Given the description of an element on the screen output the (x, y) to click on. 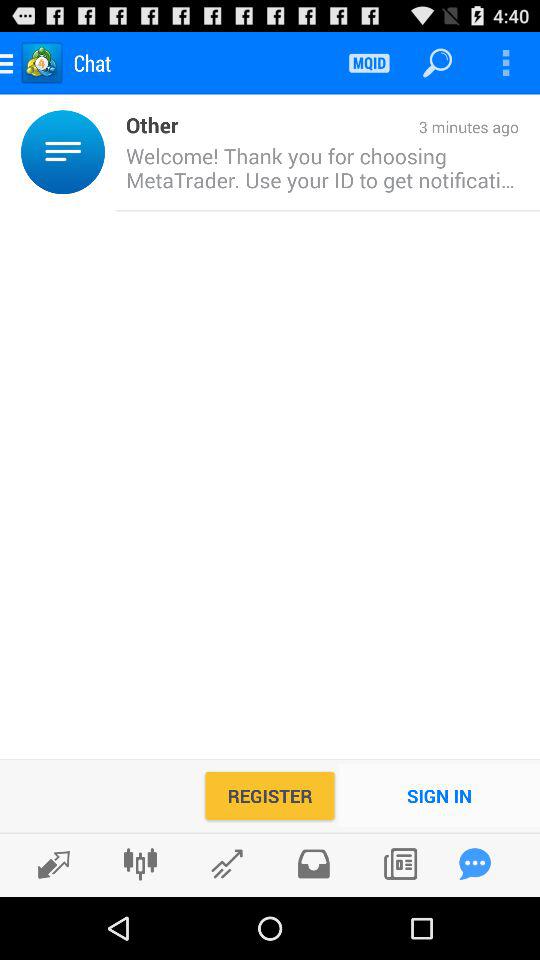
press the sign in (439, 795)
